Given the description of an element on the screen output the (x, y) to click on. 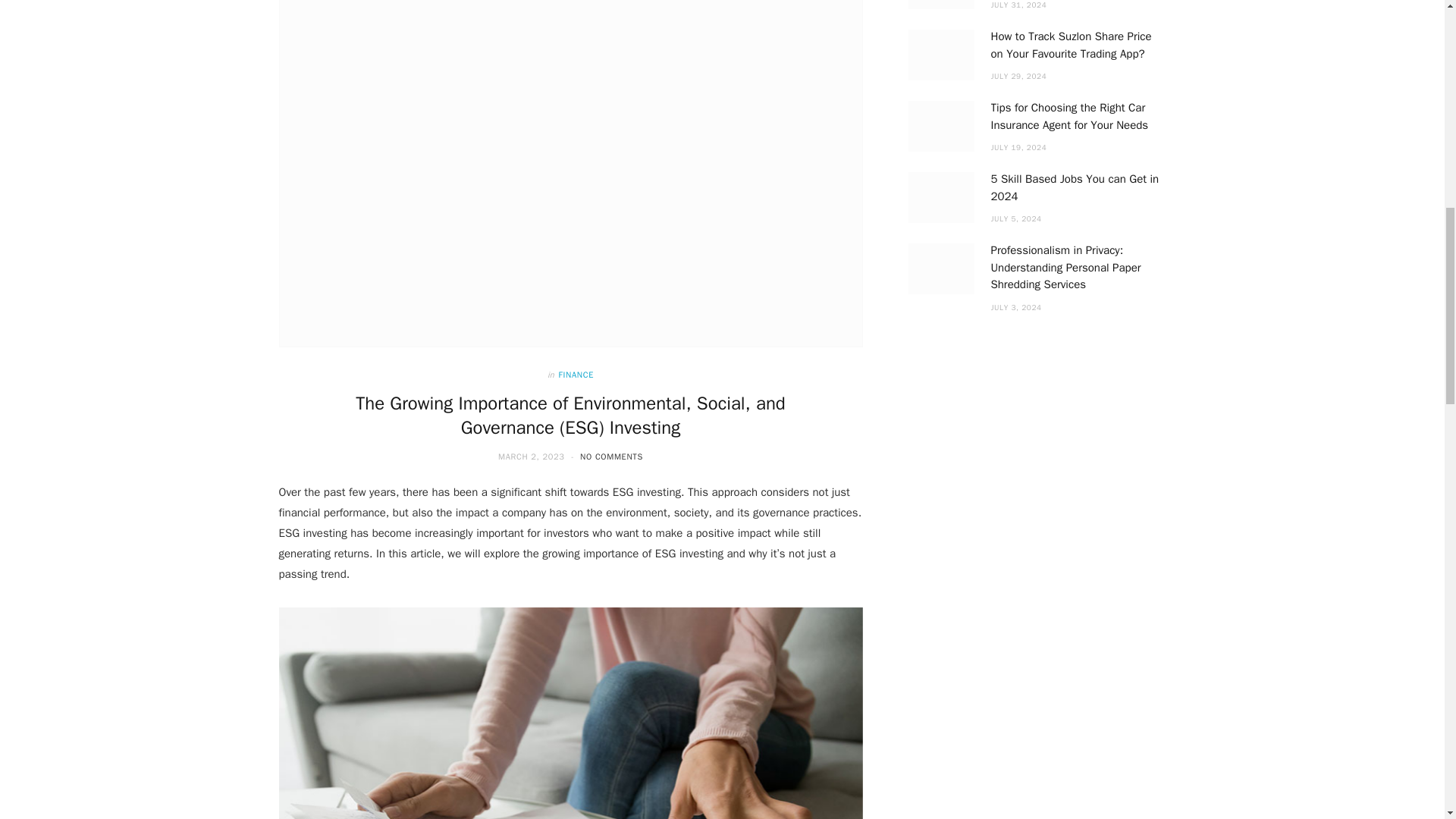
JULY 19, 2024 (1018, 147)
MARCH 2, 2023 (532, 456)
5 Skill Based Jobs You can Get in 2024 (941, 196)
JULY 31, 2024 (1018, 4)
5 Skill Based Jobs You can Get in 2024 (1074, 187)
NO COMMENTS (611, 456)
FINANCE (576, 374)
JULY 29, 2024 (1018, 76)
Understanding BSE Midcap and BSE Small Cap Stocks (941, 4)
